Given the description of an element on the screen output the (x, y) to click on. 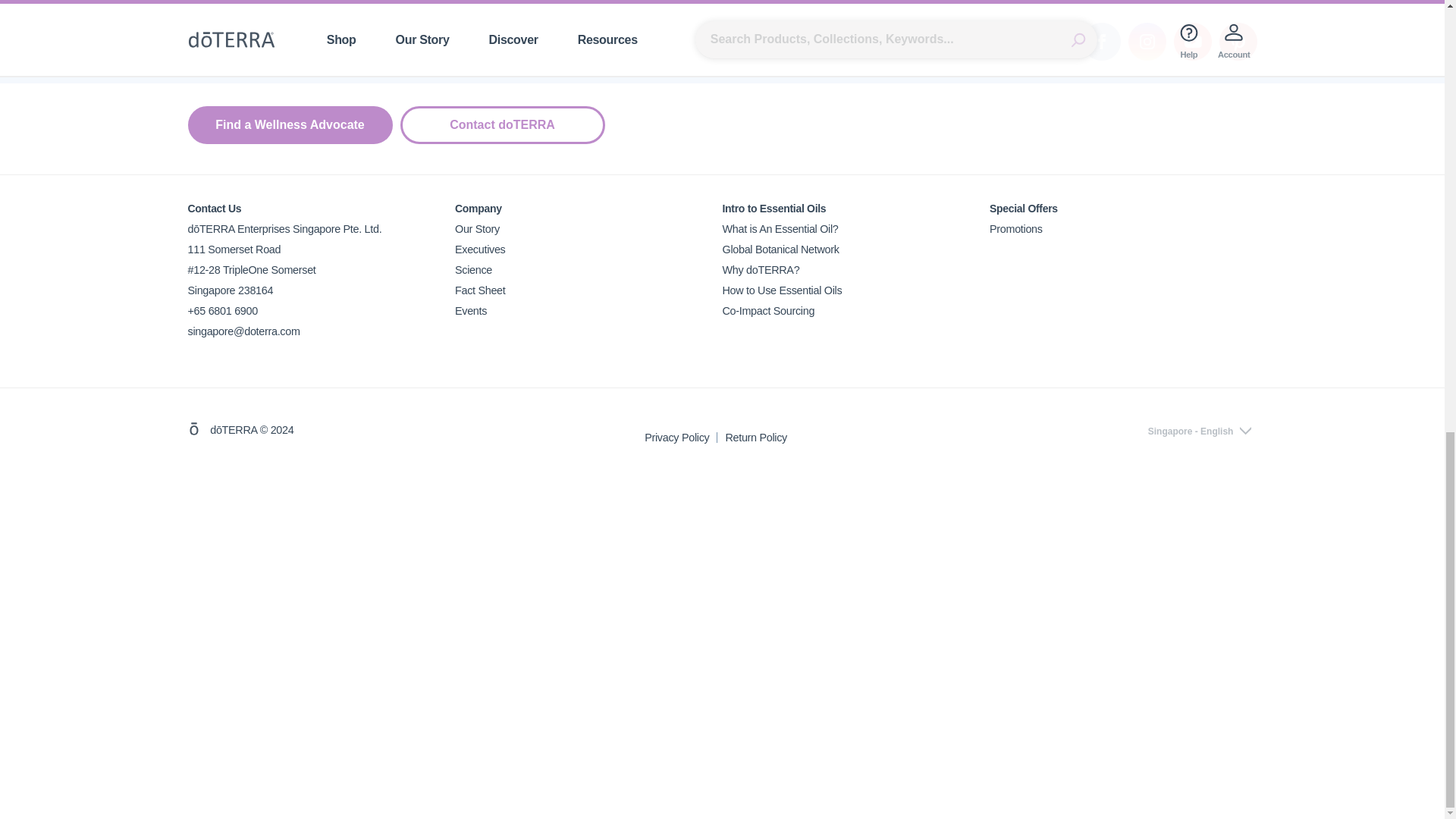
Pinterest (1238, 41)
YouTube (1192, 41)
Instagram (1147, 41)
Facebook (1102, 41)
